Given the description of an element on the screen output the (x, y) to click on. 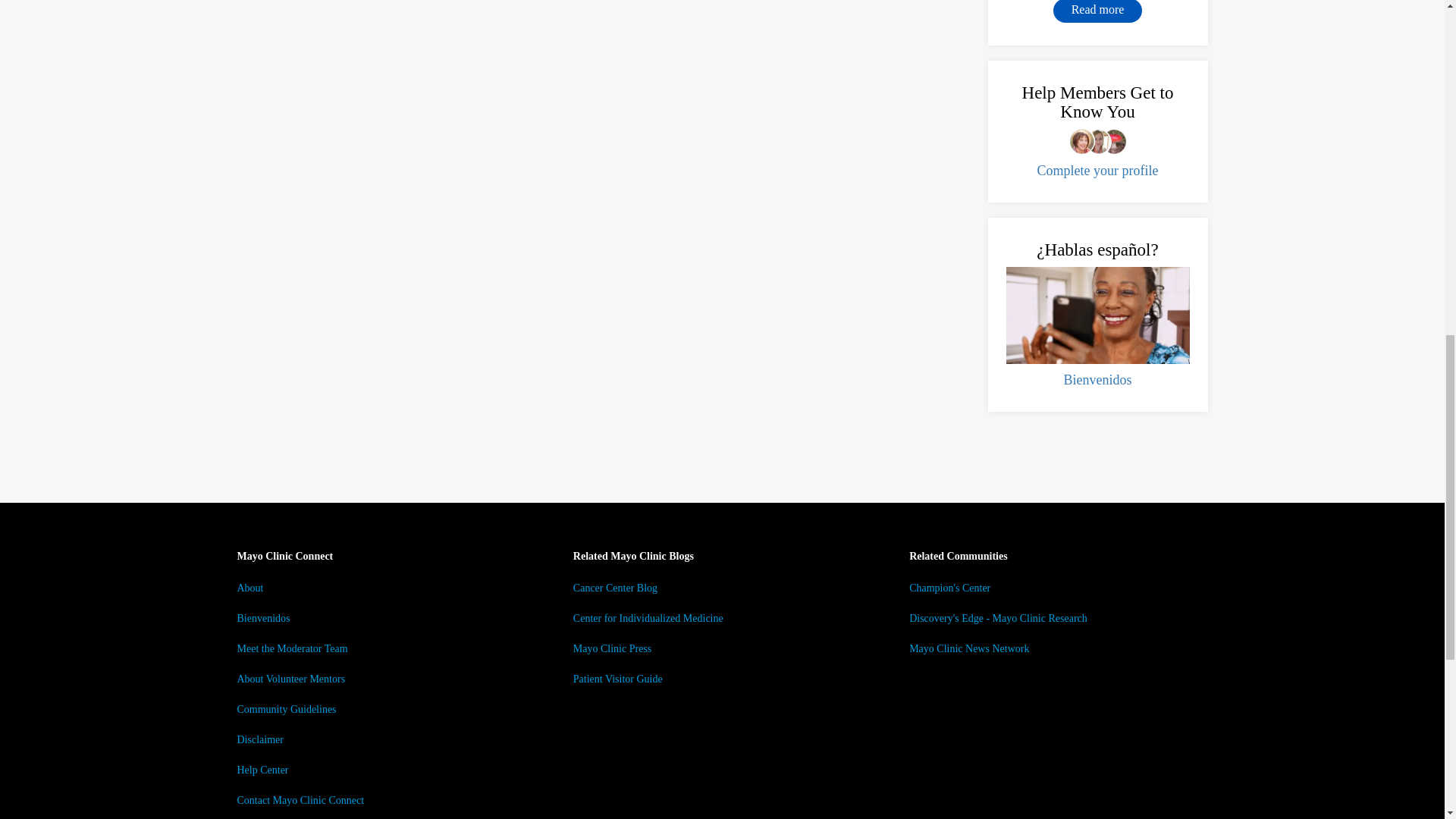
Help Center (261, 769)
About (249, 587)
Discovery's Edge - Mayo Clinic Research (997, 618)
Meet the Moderator Team (291, 648)
Champion's Center (949, 587)
Cancer Center Blog (615, 587)
Bienvenidos (1096, 379)
Disclaimer (258, 739)
Complete your profile (1097, 170)
Community Guidelines (285, 708)
Bienvenidos (262, 618)
Read more (1097, 11)
Mayo Clinic Press (611, 648)
About Volunteer Mentors (290, 678)
Contact Mayo Clinic Connect (299, 799)
